Given the description of an element on the screen output the (x, y) to click on. 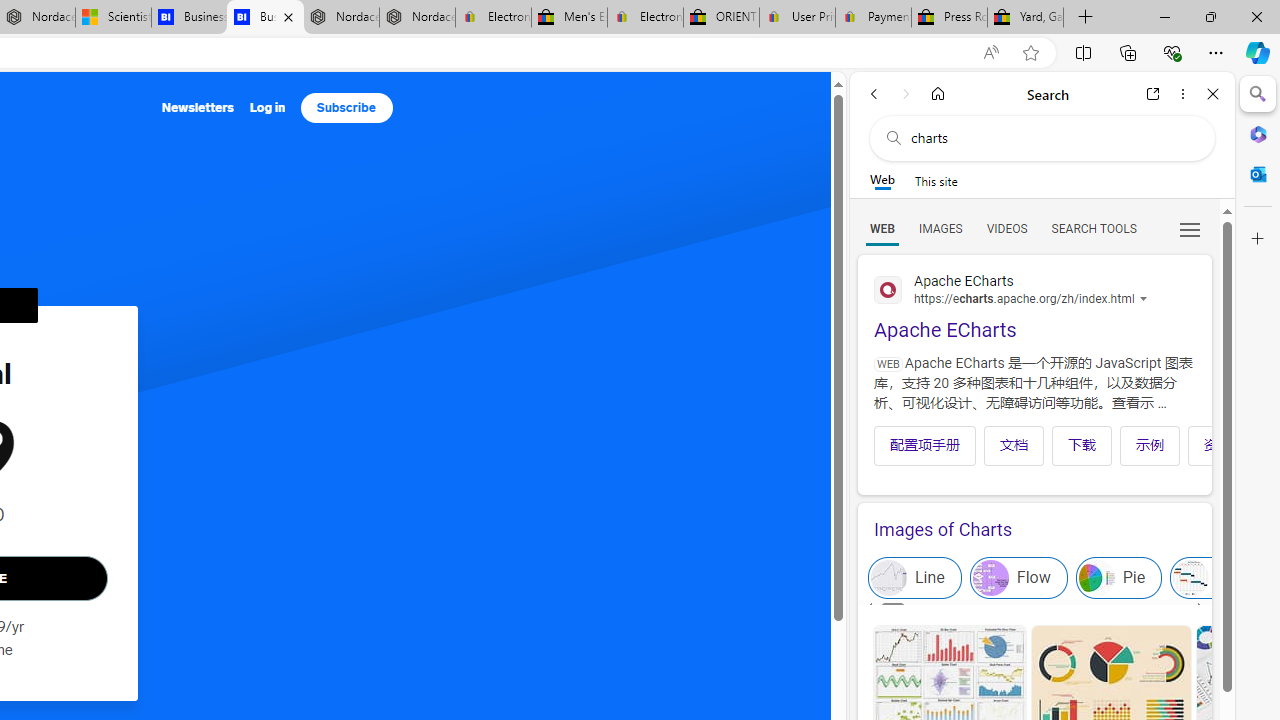
Click to scroll right (1183, 445)
VIDEOS (1006, 228)
Newsletters (198, 107)
Search Filter, VIDEOS (1006, 228)
User Privacy Notice | eBay (797, 17)
Search Filter, IMAGES (939, 228)
Class: b_serphb (1190, 229)
Web scope (882, 180)
Global web icon (888, 290)
